Given the description of an element on the screen output the (x, y) to click on. 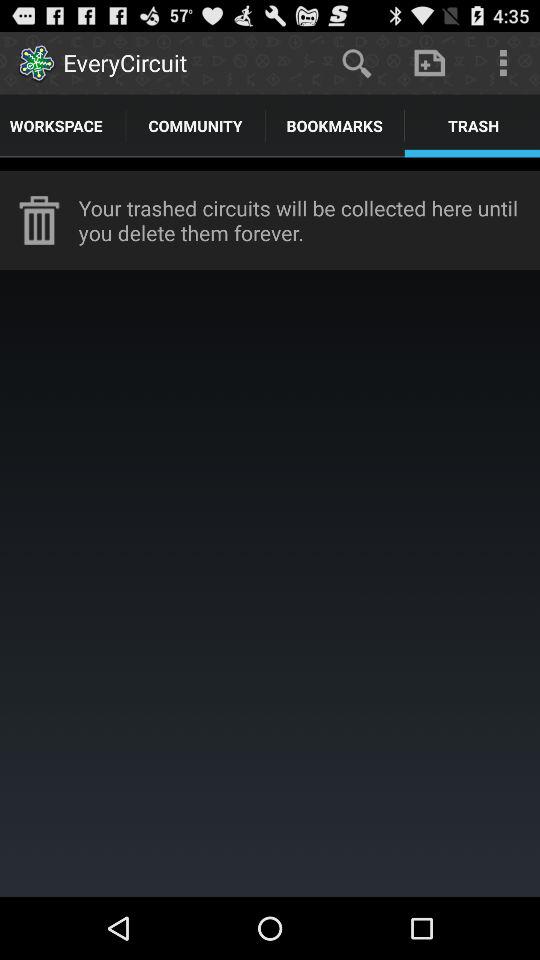
tap the app to the right of the everycircuit item (356, 62)
